Given the description of an element on the screen output the (x, y) to click on. 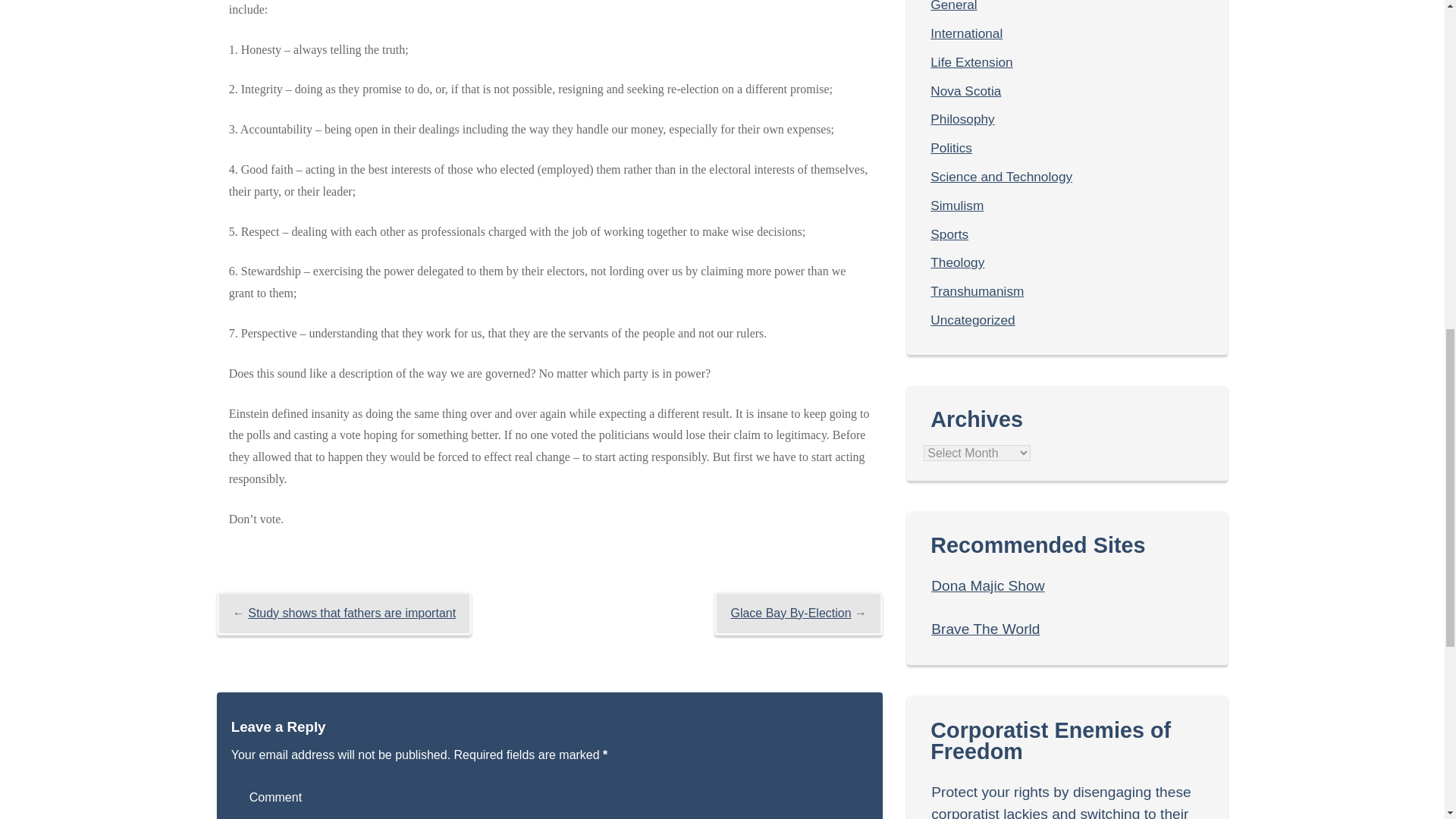
Brave The World (985, 628)
Simulism (957, 205)
Transhumanism (976, 290)
Theology (957, 262)
Life Extension (970, 61)
Science and Technology (1000, 176)
International (966, 32)
Uncategorized (972, 319)
Sports (949, 233)
Study shows that fathers are important (351, 612)
Dona Majic Show (987, 585)
Politics (951, 147)
Philosophy (962, 118)
General (953, 6)
Nova Scotia (965, 90)
